Given the description of an element on the screen output the (x, y) to click on. 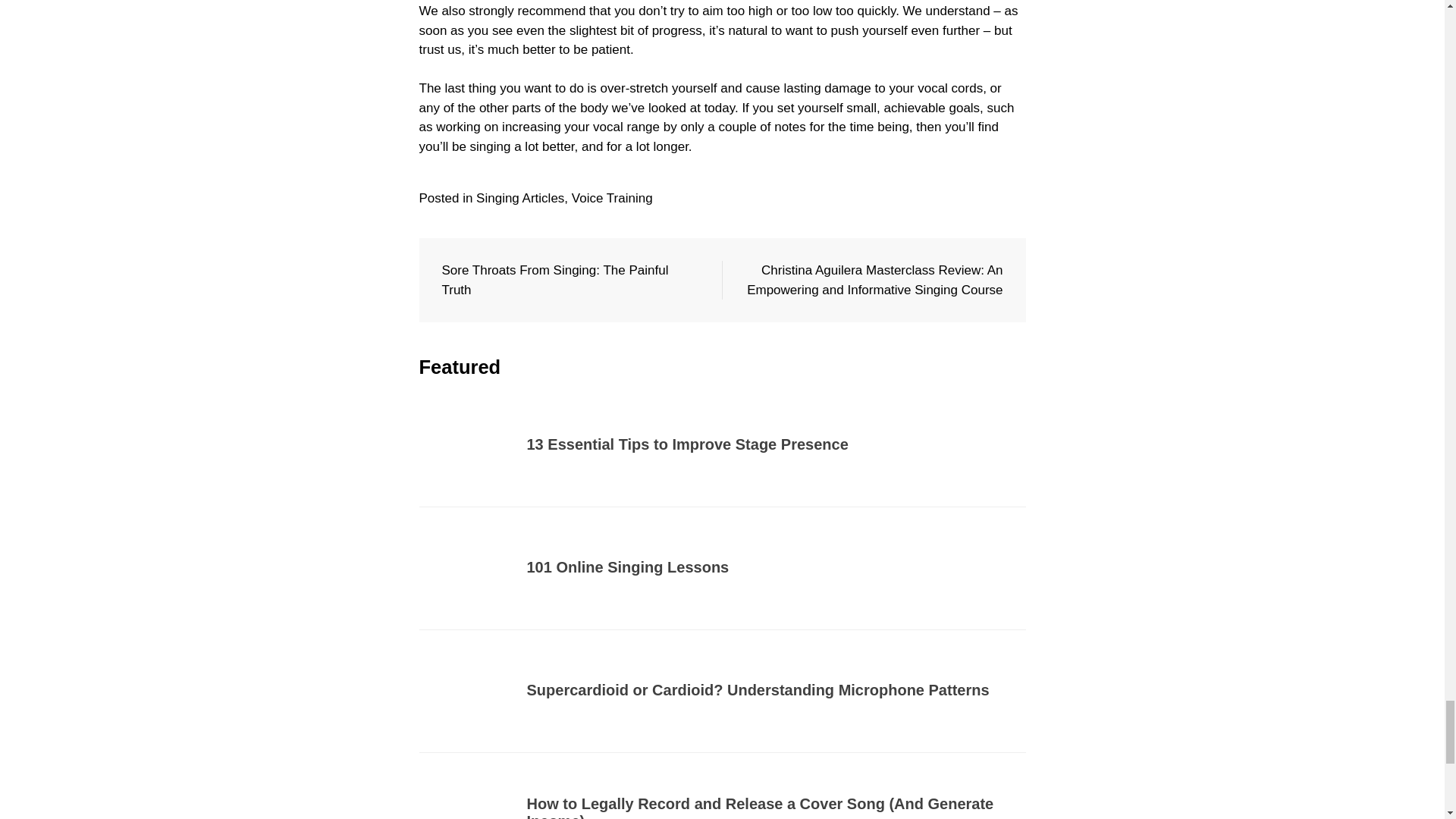
Singing Articles (520, 197)
Supercardioid or Cardioid? Understanding Microphone Patterns (756, 443)
Vocal Warm-ups to Whip Your Singing Voice into Shape (725, 566)
Voice Training (612, 197)
Sore Throats From Singing: The Painful Truth (554, 279)
